Given the description of an element on the screen output the (x, y) to click on. 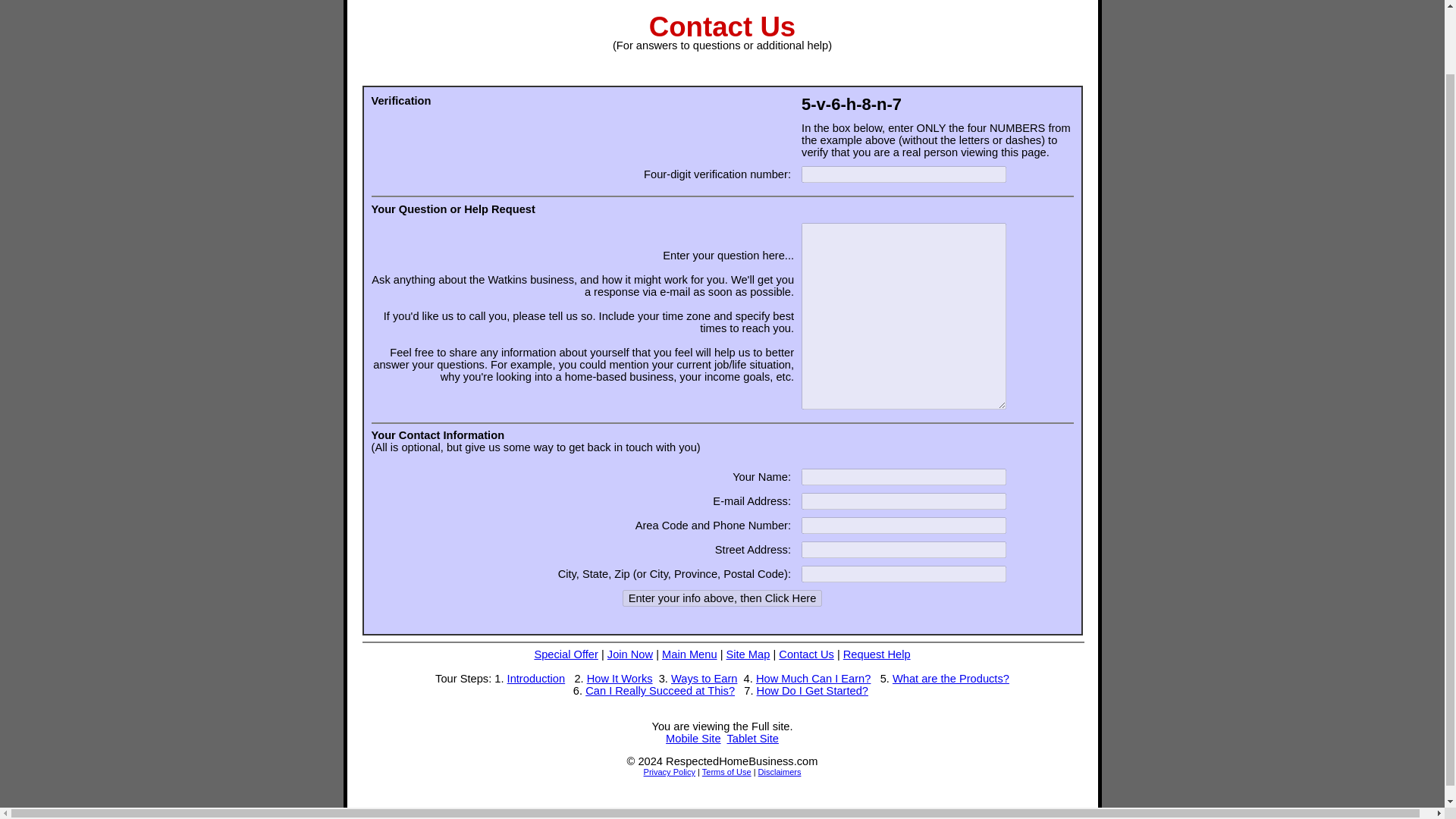
How Do I Get Started? (812, 690)
Request Help (877, 654)
Enter your info above, then Click Here (722, 597)
What are the Products? (950, 678)
Can I Really Succeed at This? (660, 690)
Introduction (536, 678)
Join Now (629, 654)
How It Works (619, 678)
Main Menu (689, 654)
How Much Can I Earn? (812, 678)
Tablet Site (751, 738)
Ways to Earn (703, 678)
Mobile Site (692, 738)
Privacy Policy (669, 771)
Site Map (748, 654)
